Given the description of an element on the screen output the (x, y) to click on. 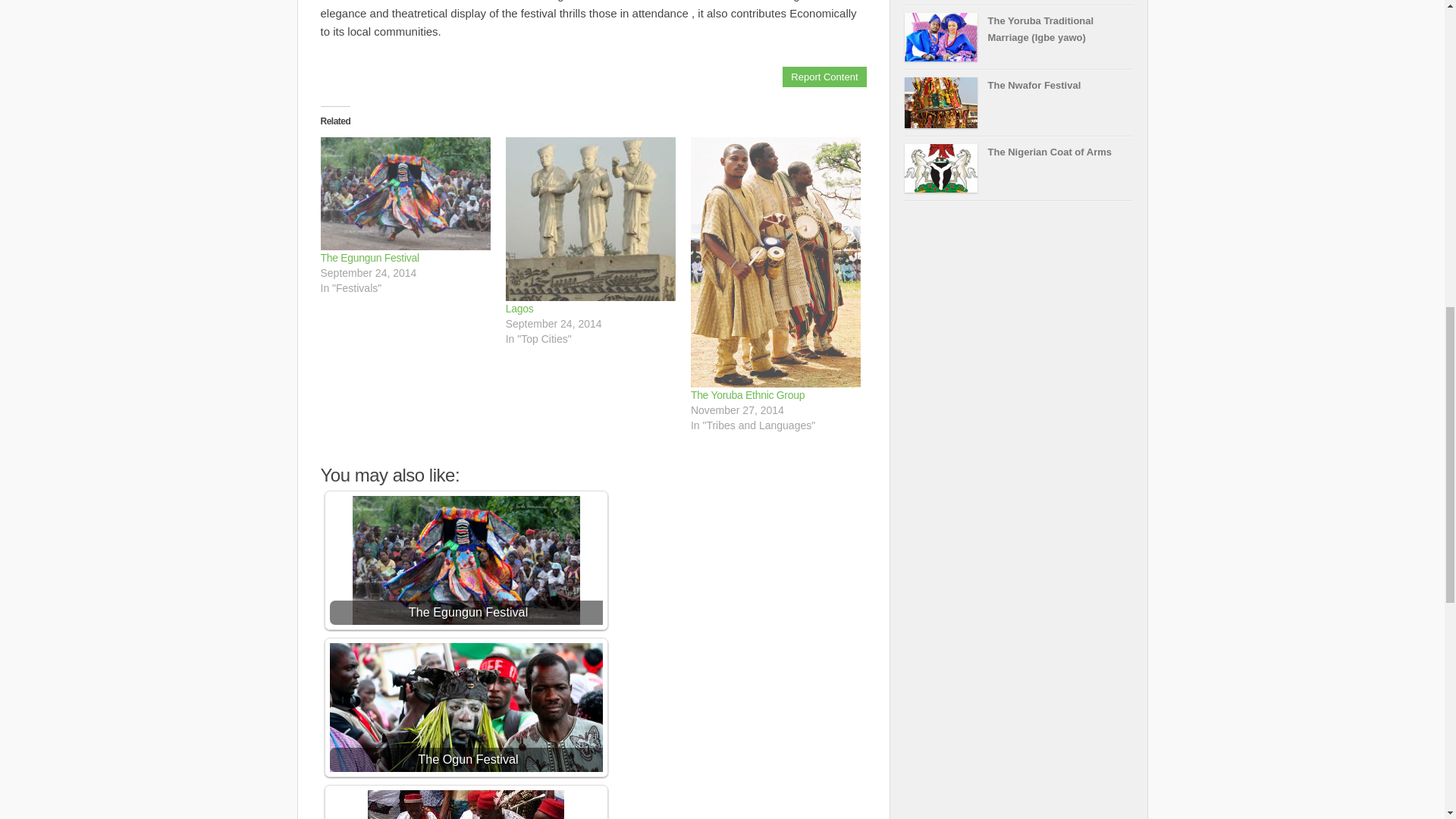
The Egungun Festival (404, 193)
The Yoruba Ethnic Group (747, 395)
Lagos (590, 219)
The Ogun Festival (465, 707)
The Ogun Festival (465, 707)
Report Content (824, 76)
Lagos (519, 308)
The Egungun Festival (369, 257)
Lagos (519, 308)
The New Yam Festival (465, 804)
